Given the description of an element on the screen output the (x, y) to click on. 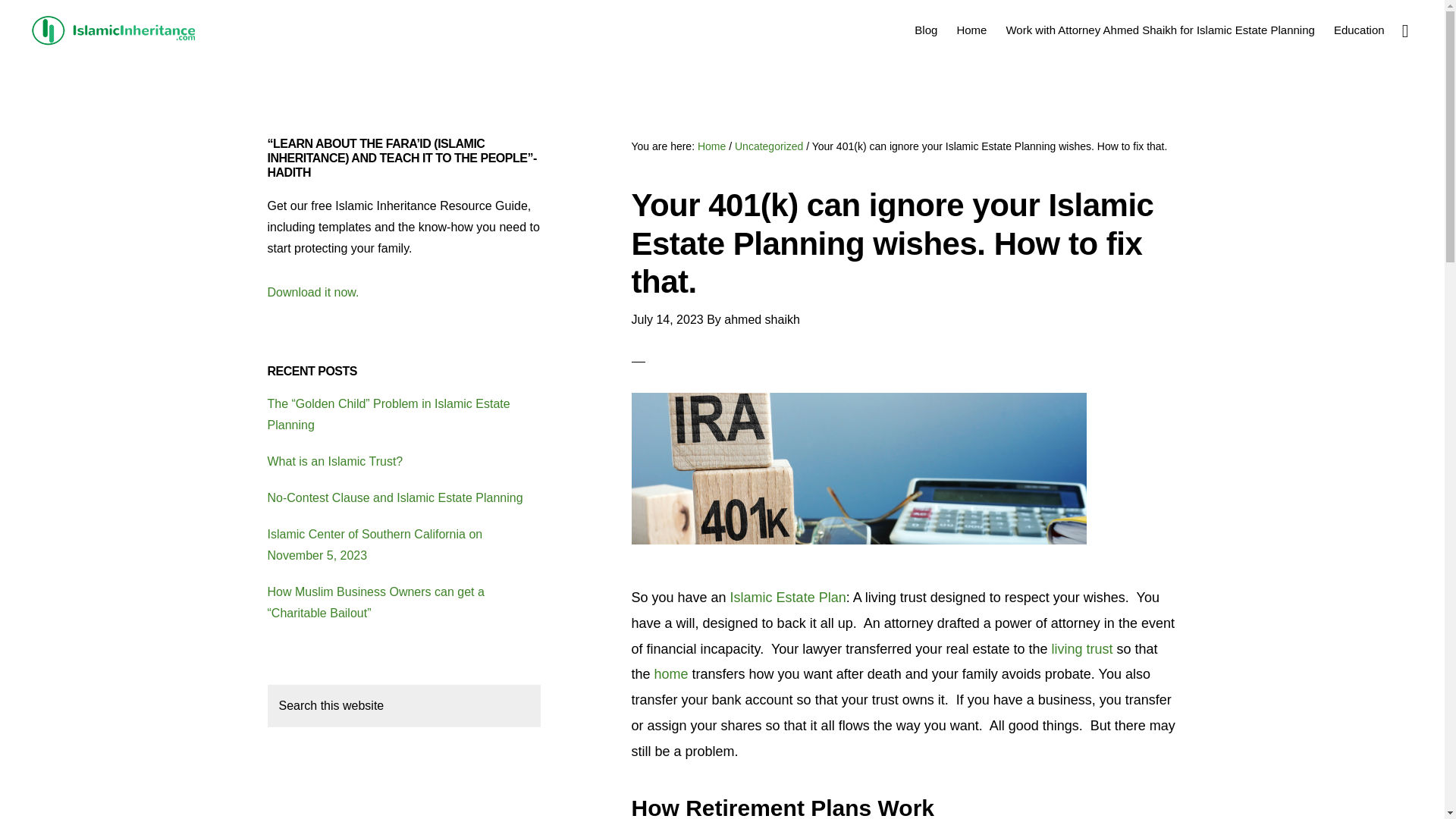
Home (711, 146)
BLOG (752, 776)
What is an Islamic Trust? (334, 461)
ISLAMIC ESTATE PLANNING ATTORNEY (113, 30)
Work with Attorney Ahmed Shaikh for Islamic Estate Planning (1159, 29)
CONTACT US (875, 776)
Education (1358, 29)
LIBRARY (805, 776)
Download it now. (312, 291)
HOME (552, 776)
No-Contest Clause and Islamic Estate Planning (394, 497)
Blog (925, 29)
ahmed shaikh (761, 318)
